Given the description of an element on the screen output the (x, y) to click on. 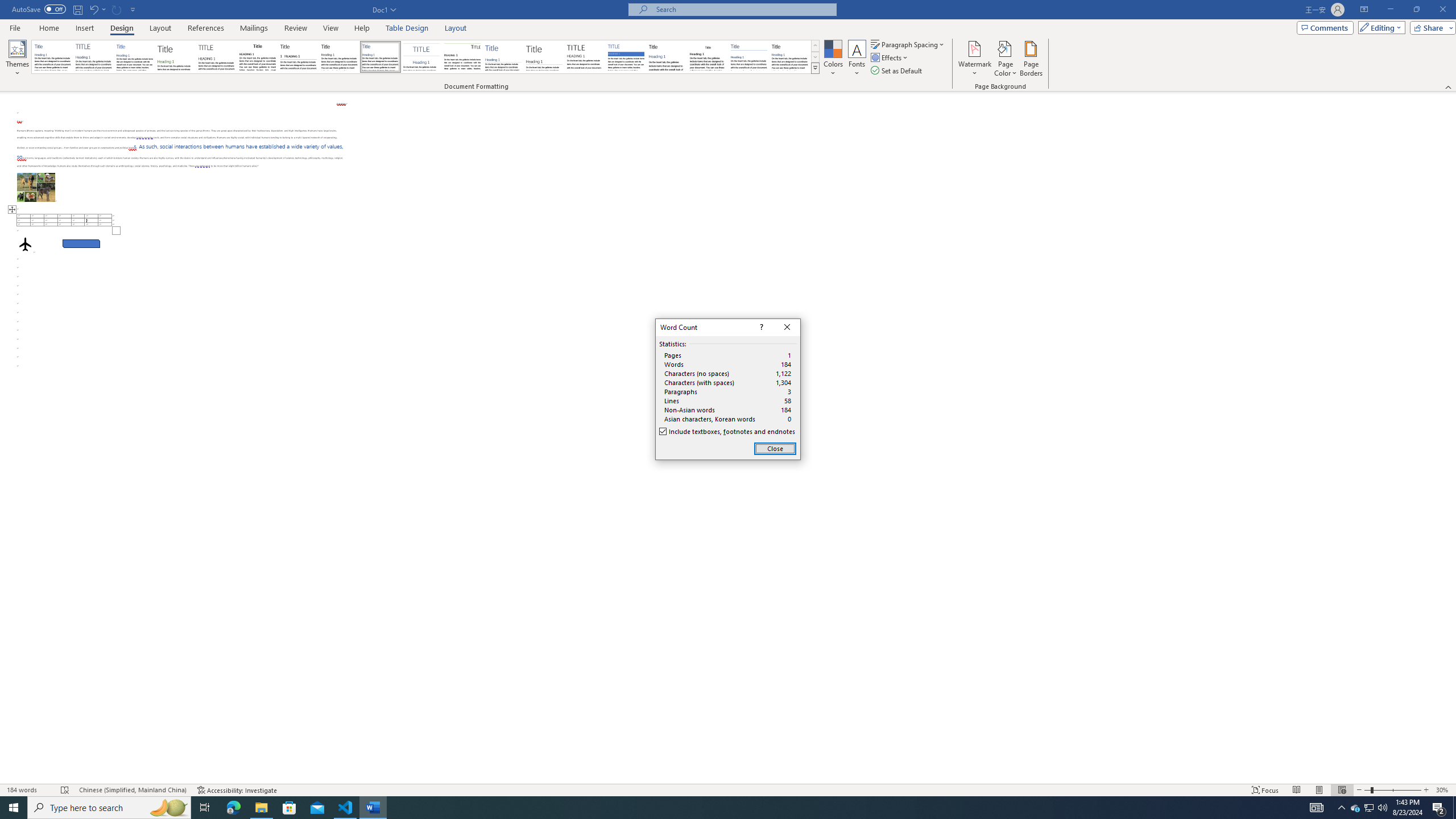
Basic (Elegant) (93, 56)
